Given the description of an element on the screen output the (x, y) to click on. 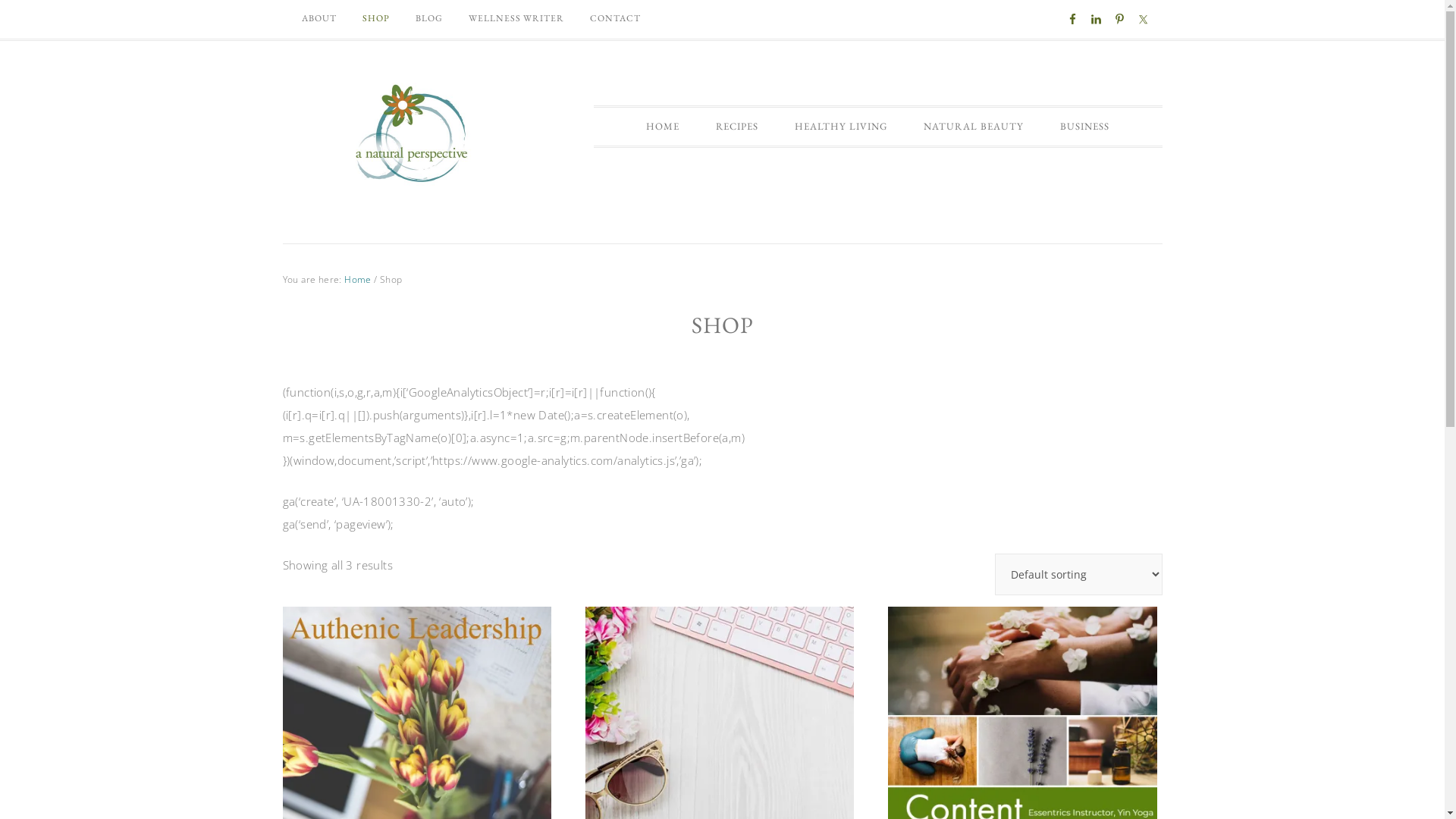
HEALTHY LIVING Element type: text (840, 126)
WELLNESS WRITER Element type: text (515, 18)
A NATURAL PERSPECTIVE Element type: text (407, 133)
SHOP Element type: text (375, 18)
BLOG Element type: text (428, 18)
NATURAL BEAUTY Element type: text (973, 126)
RECIPES Element type: text (737, 126)
CONTACT Element type: text (614, 18)
HOME Element type: text (662, 126)
ABOUT Element type: text (318, 18)
Home Element type: text (357, 279)
BUSINESS Element type: text (1084, 126)
